Given the description of an element on the screen output the (x, y) to click on. 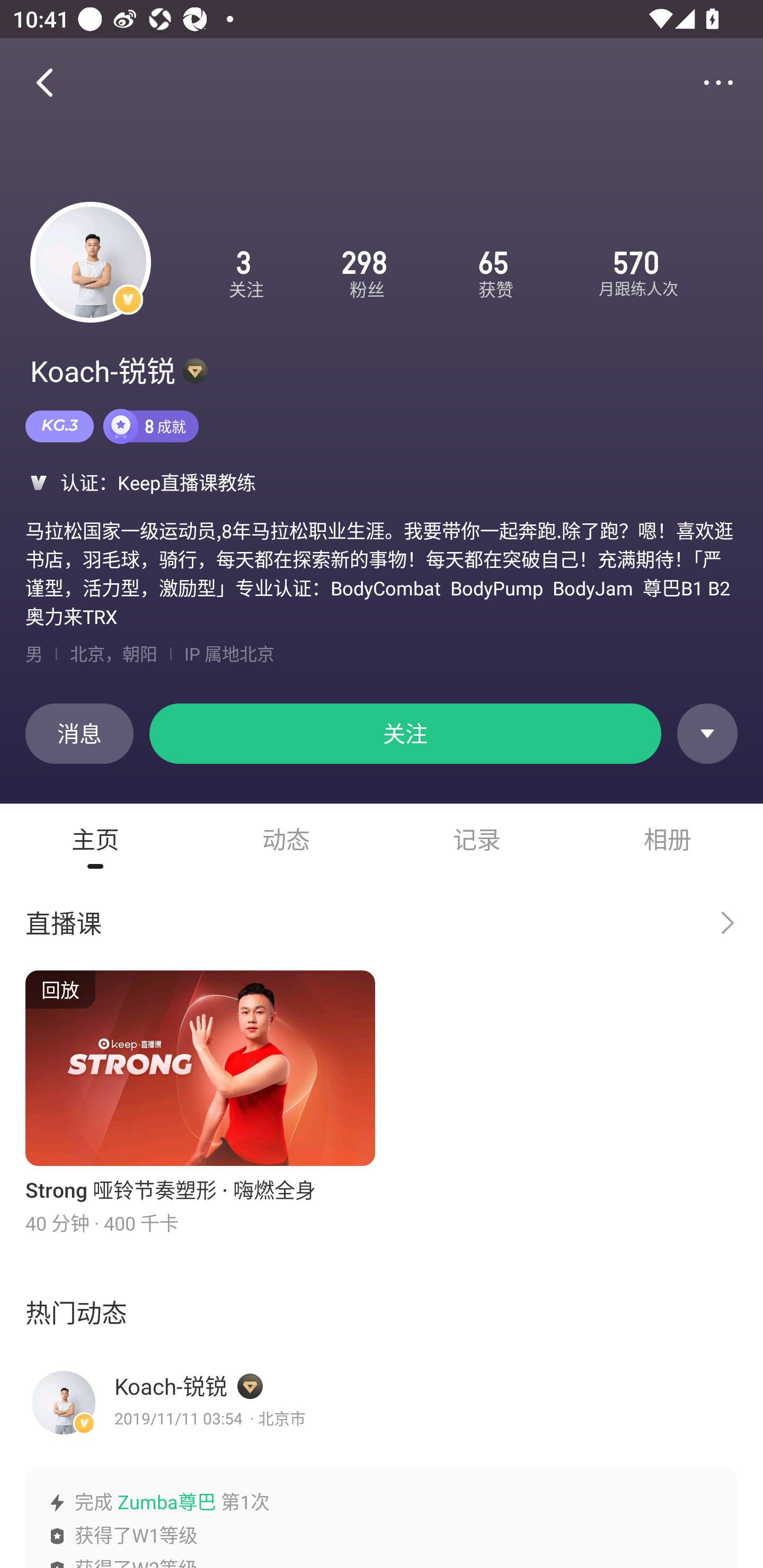
8 成就 (150, 426)
认证： Keep直播课教练 (381, 481)
消息 (79, 733)
关注 (405, 733)
主页 (95, 838)
动态 (285, 838)
记录 (476, 838)
相册 (667, 838)
直播课 更多 (381, 922)
回放 Strong 哑铃节奏塑形 · 嗨燃全身 40 分钟 · 400 千卡 (200, 1102)
热门动态 (381, 1311)
Koach-锐锐 2019/11/11 03:54  ·  北京市 (381, 1402)
Koach-锐锐 (171, 1385)
